Given the description of an element on the screen output the (x, y) to click on. 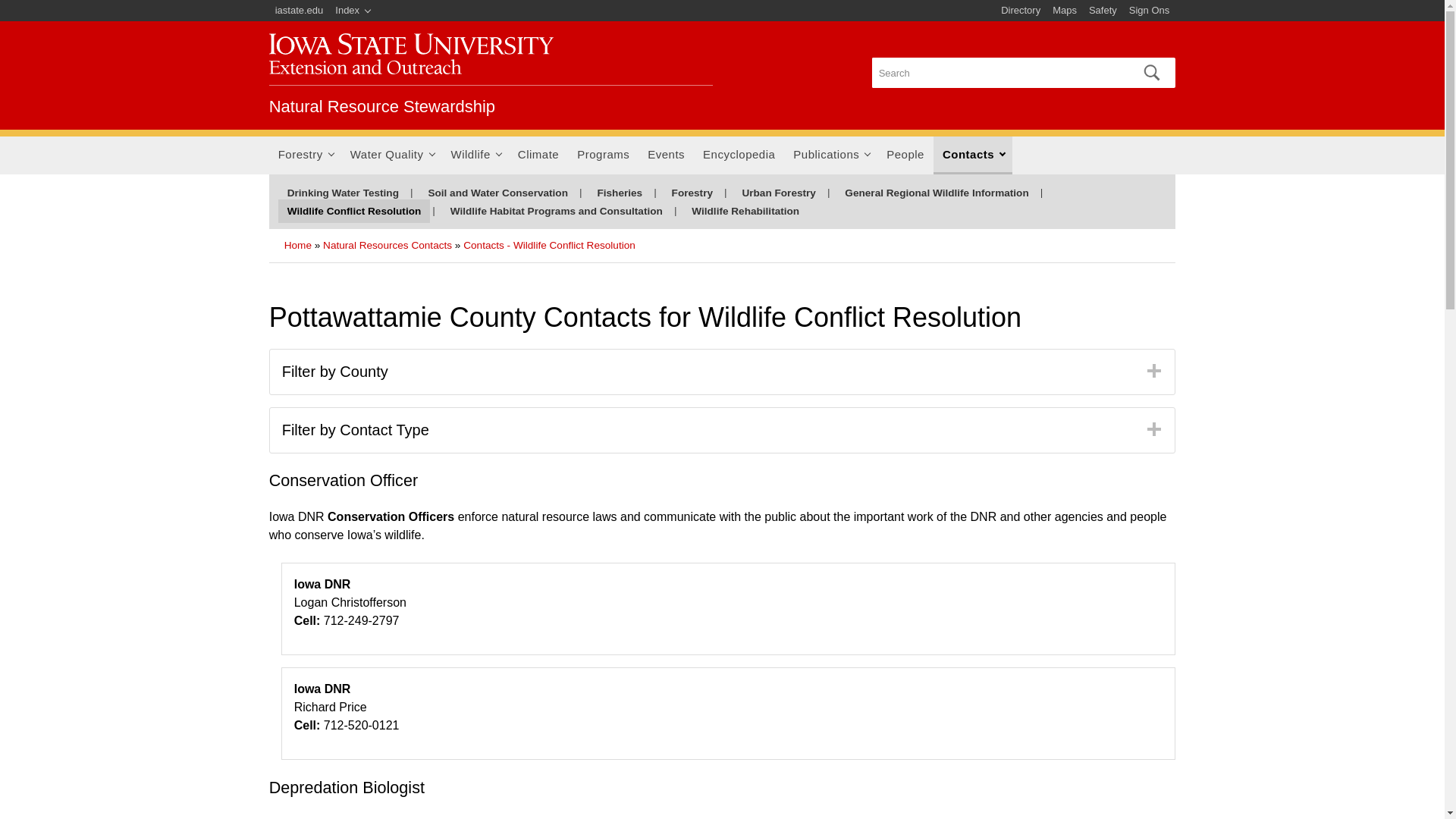
Natural Resource Stewardship (411, 53)
Sign Ons (1148, 10)
Index (353, 10)
Directory (1020, 10)
iastate.edu (299, 10)
Enter the terms you wish to search for. (998, 72)
Natural Resource Stewardship (382, 106)
Skip to main content (685, 1)
Iowa State University Home Page (299, 10)
Safety (1102, 10)
Home (382, 106)
Maps (1064, 10)
